Given the description of an element on the screen output the (x, y) to click on. 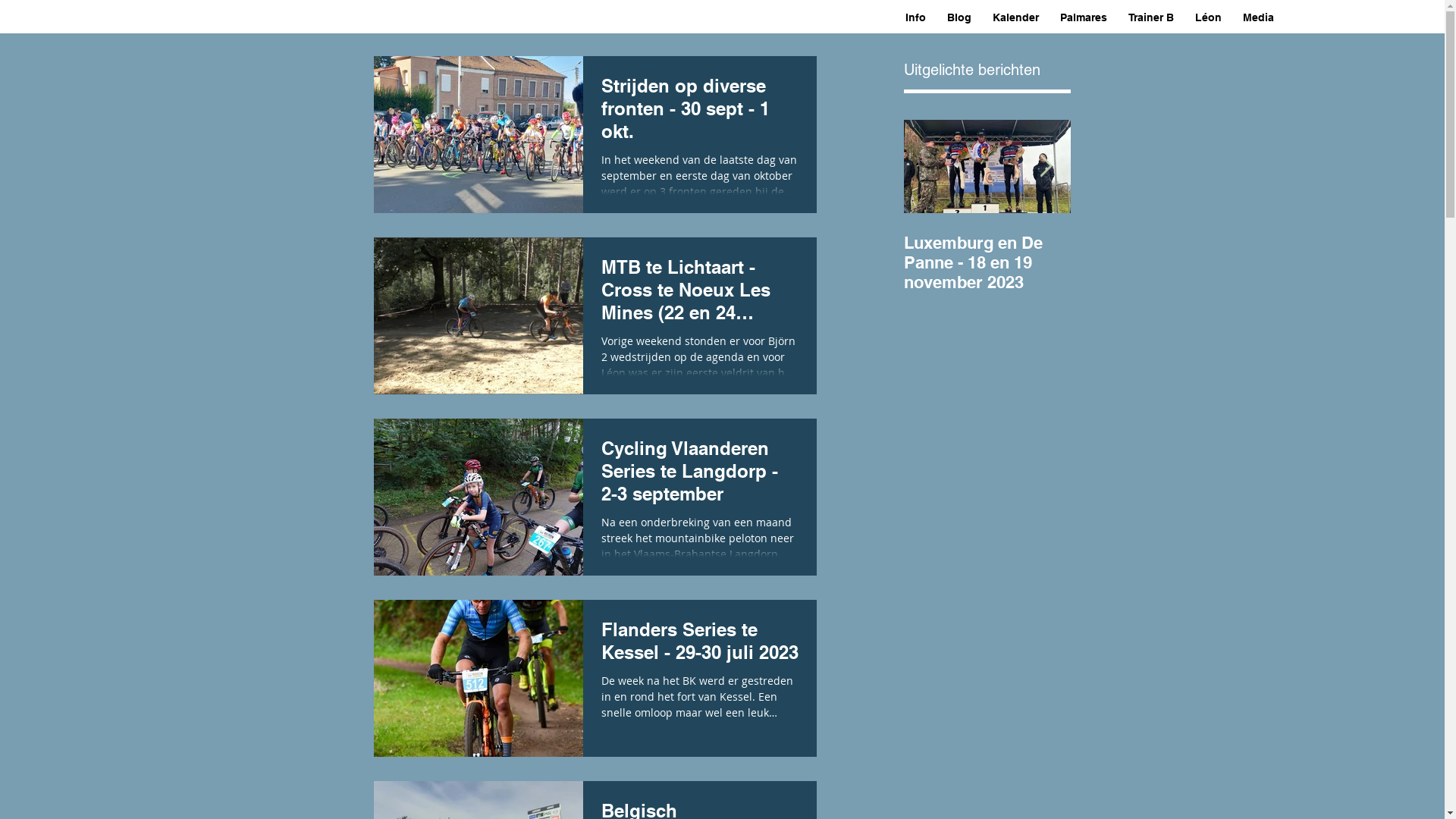
Strijden op diverse fronten - 30 sept - 1 okt. Element type: text (698, 112)
Media Element type: text (1257, 17)
Cycling Vlaanderen Series te Langdorp - 2-3 september Element type: text (698, 475)
Ardooie + Orp Le Grand: 19 en 22 oktober 23 Element type: text (1153, 261)
Info Element type: text (915, 17)
Flanders Series te Kessel - 29-30 juli 2023 Element type: text (698, 645)
Luxemburg en De Panne - 18 en 19 november 2023 Element type: text (986, 261)
Trainer B Element type: text (1150, 17)
Blog Element type: text (958, 17)
Palmares Element type: text (1083, 17)
